Given the description of an element on the screen output the (x, y) to click on. 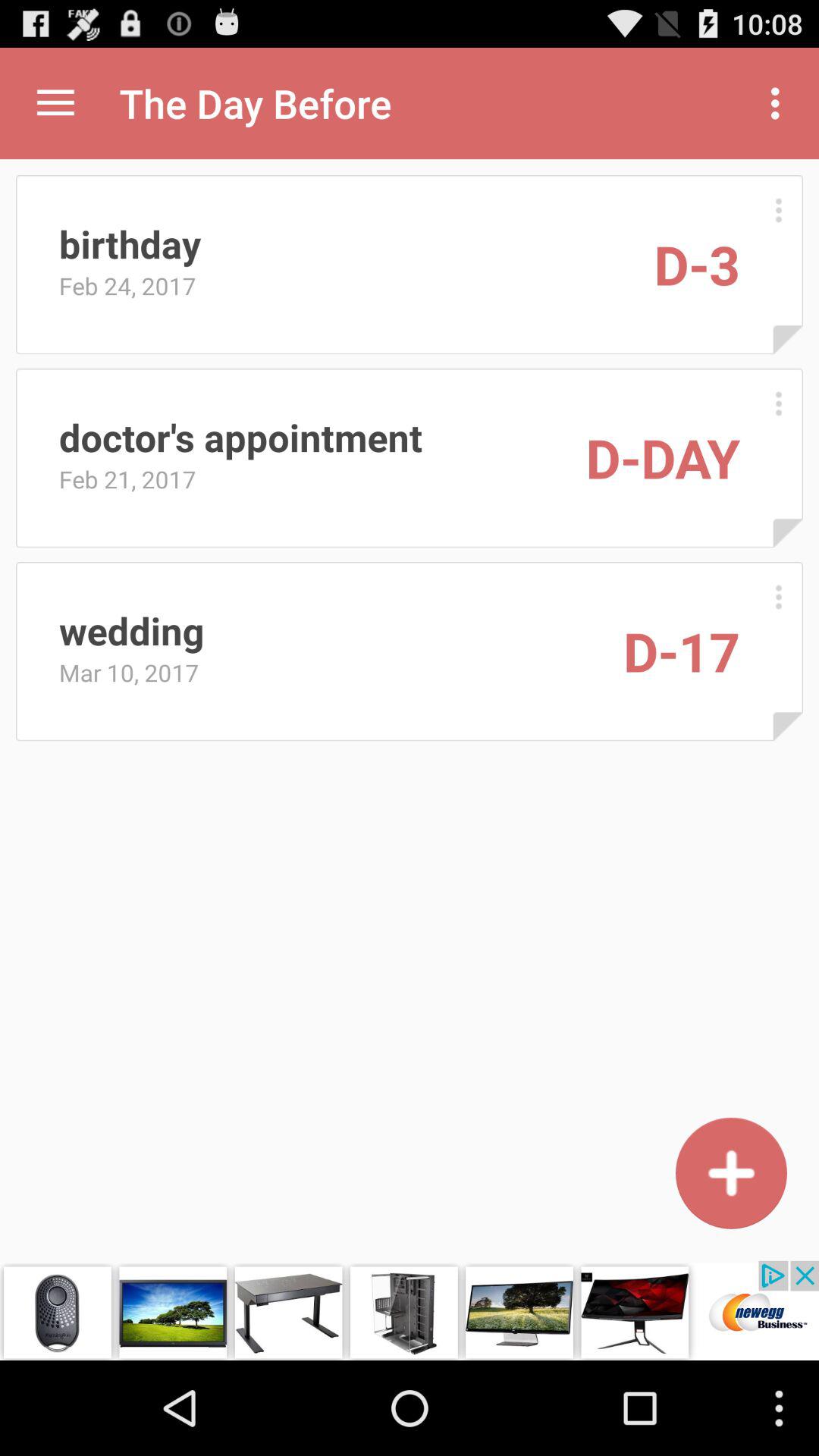
open details (777, 403)
